Given the description of an element on the screen output the (x, y) to click on. 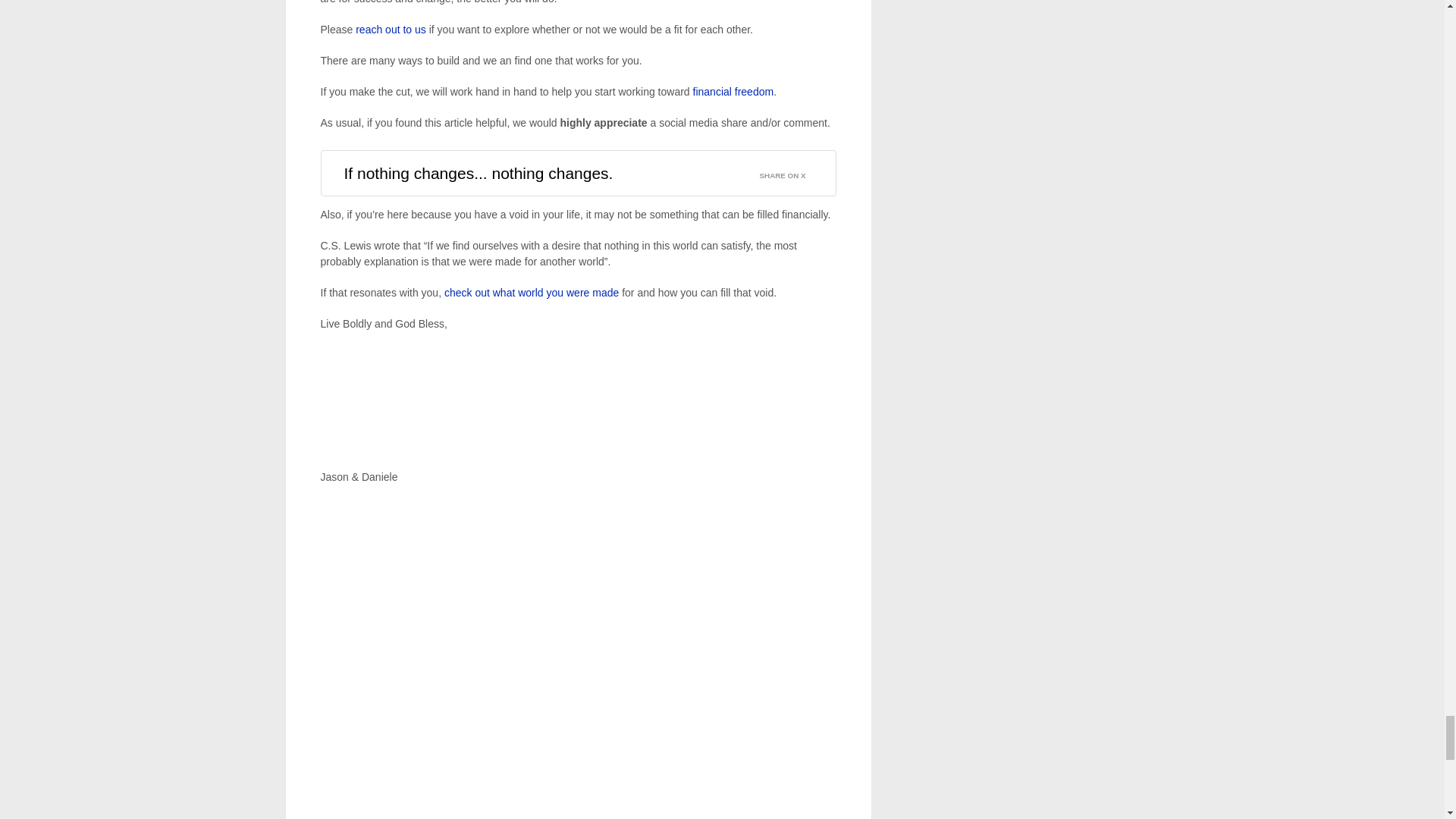
If nothing changes... nothing changes. (477, 173)
check out what world you were made (531, 292)
reach out to us (389, 29)
financial freedom (733, 91)
SHARE ON X (792, 171)
